Given the description of an element on the screen output the (x, y) to click on. 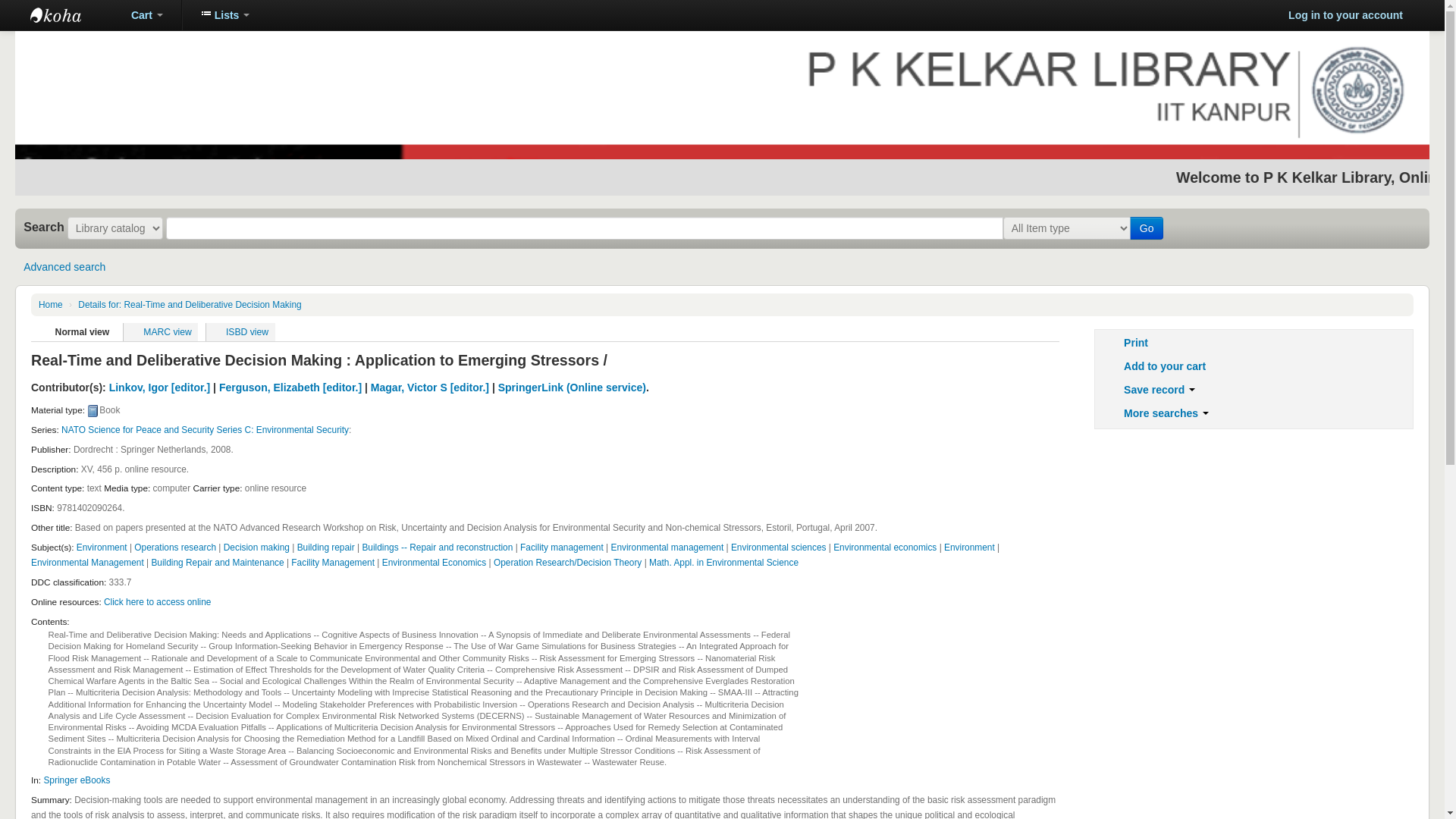
Home (50, 304)
Buildings -- Repair and reconstruction (436, 547)
Go (1146, 228)
Facility management (561, 547)
ISBD view (240, 331)
Advanced search (63, 266)
Environment (102, 547)
Building repair (326, 547)
PKK Library (68, 15)
Log in to your account (1344, 15)
